Given the description of an element on the screen output the (x, y) to click on. 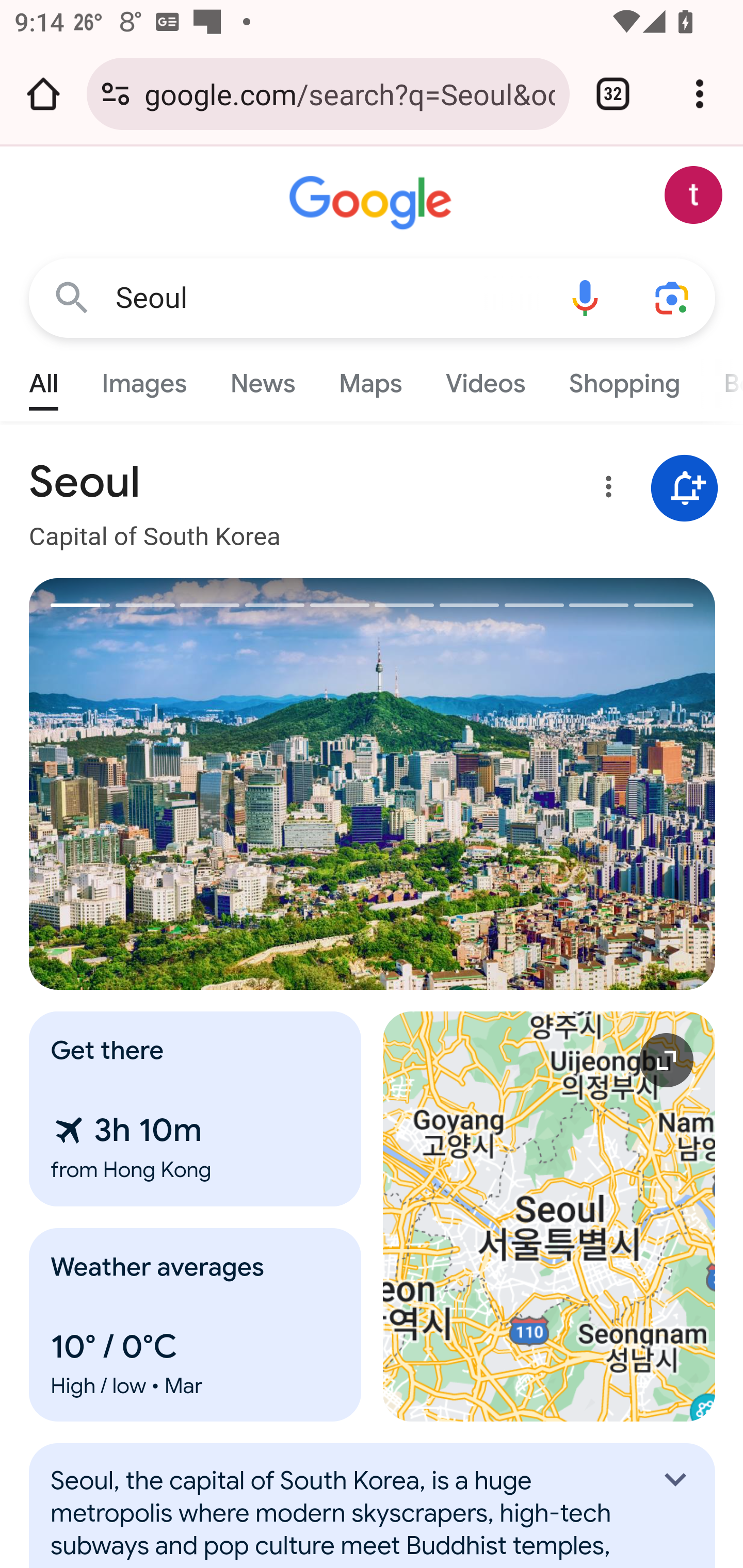
Open the home page (43, 93)
Connection is secure (115, 93)
Switch or close tabs (612, 93)
Customize and control Google Chrome (699, 93)
Google (372, 203)
Google Search (71, 296)
Search using your camera or photos (672, 296)
Seoul (328, 297)
Images (144, 378)
News (262, 378)
Maps (369, 378)
Videos (485, 378)
Shopping (623, 378)
Get notifications about Seoul (684, 489)
More options (605, 489)
Previous image (200, 783)
Next image (544, 783)
Expand map (549, 1216)
Weather averages 10° / 0°C High / low • Mar (195, 1324)
